Given the description of an element on the screen output the (x, y) to click on. 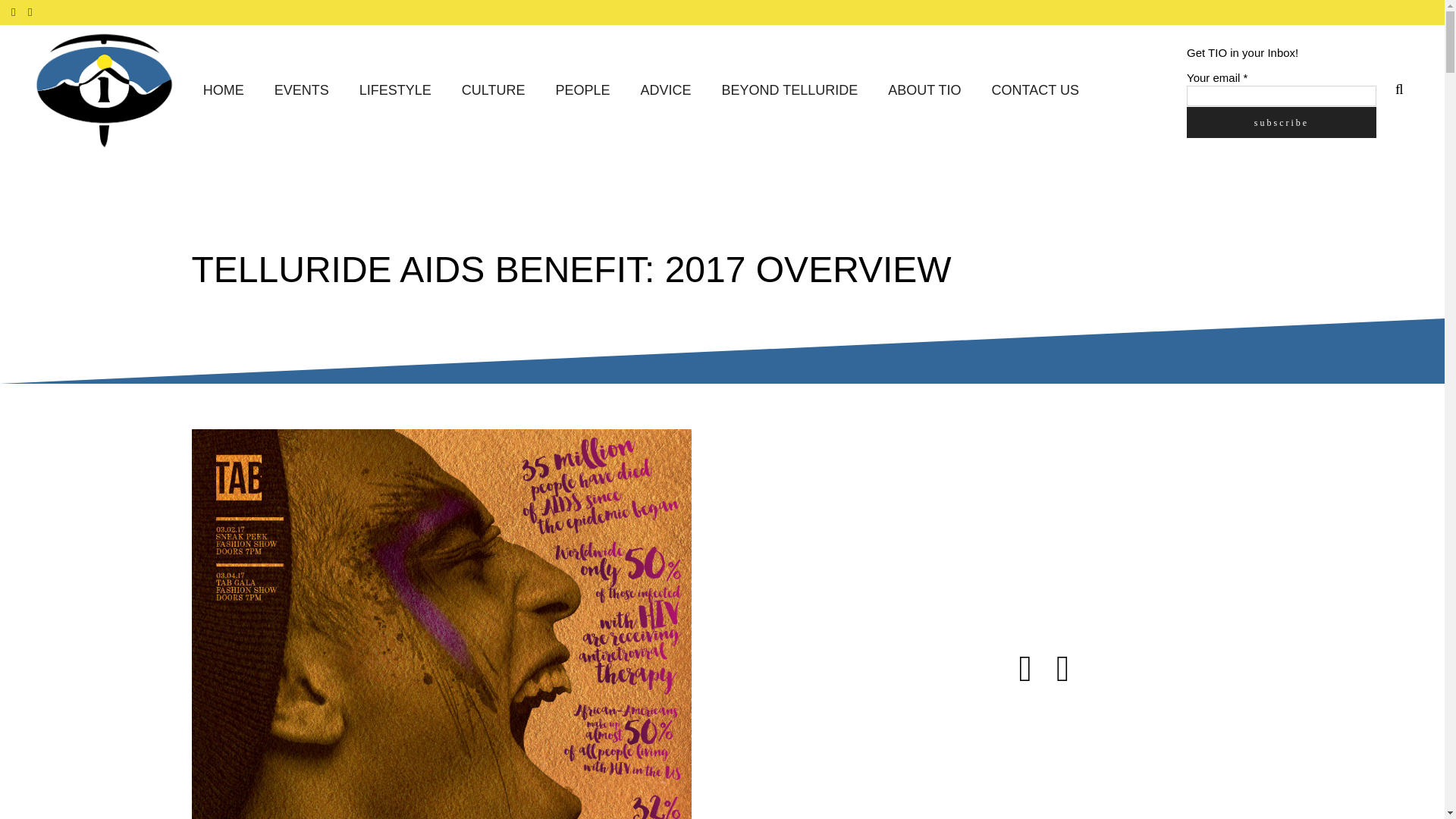
Subscribe (1280, 121)
3rd party ad content (1116, 760)
BEYOND TELLURIDE (789, 90)
CONTACT US (1035, 90)
Your email (1280, 95)
Subscribe (1280, 121)
3rd party ad content (1116, 524)
